Given the description of an element on the screen output the (x, y) to click on. 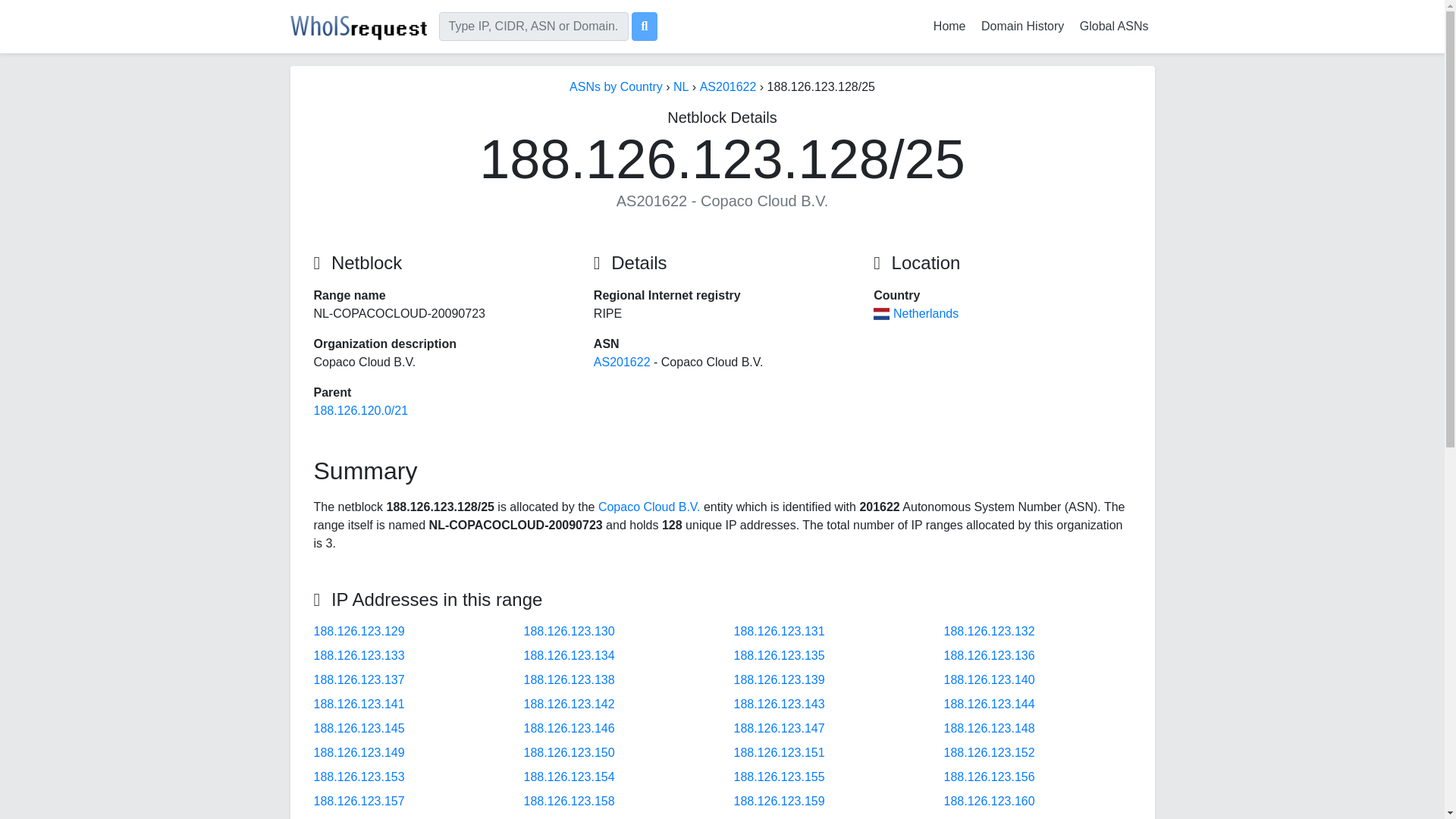
NL (680, 86)
188.126.123.142 (568, 703)
188.126.123.144 (988, 703)
Home (949, 25)
188.126.123.132 (988, 631)
Global ASNs (1114, 25)
Netherlands (925, 313)
188.126.123.146 (568, 727)
188.126.123.131 (779, 631)
188.126.123.129 (359, 631)
AS201622 (728, 86)
188.126.123.140 (988, 679)
188.126.123.135 (779, 655)
188.126.123.147 (779, 727)
Domain History (1022, 25)
